Given the description of an element on the screen output the (x, y) to click on. 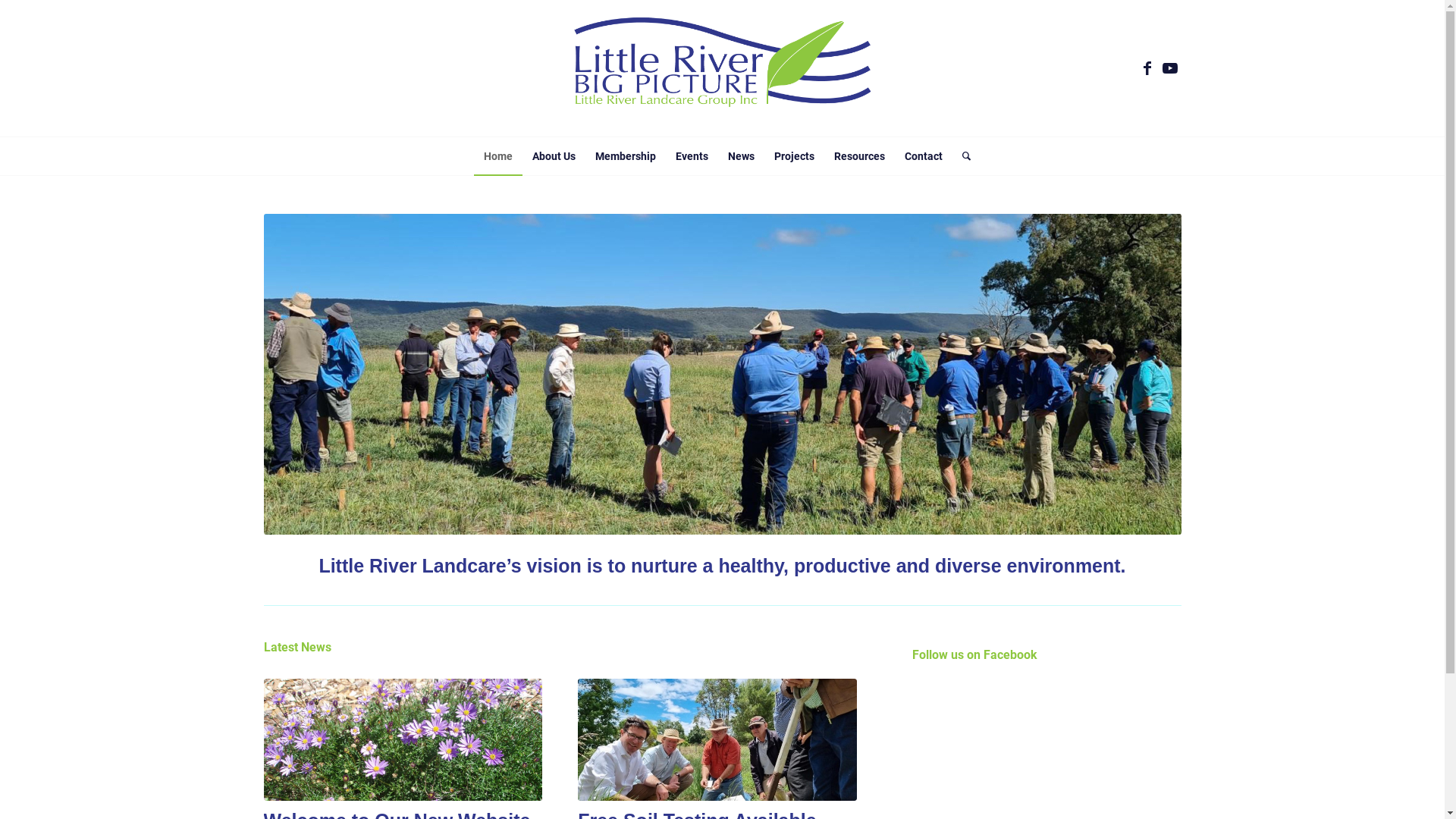
Home Element type: text (497, 156)
News Element type: text (741, 156)
Projects Element type: text (794, 156)
Welcome to Our New Website Element type: hover (402, 739)
Contact Element type: text (923, 156)
Youtube Element type: hover (1169, 67)
Free Soil Testing Available Element type: hover (716, 739)
Homepage header Element type: hover (722, 373)
Resources Element type: text (859, 156)
Facebook Element type: hover (1146, 67)
About Us Element type: text (553, 156)
Membership Element type: text (625, 156)
Events Element type: text (691, 156)
